Given the description of an element on the screen output the (x, y) to click on. 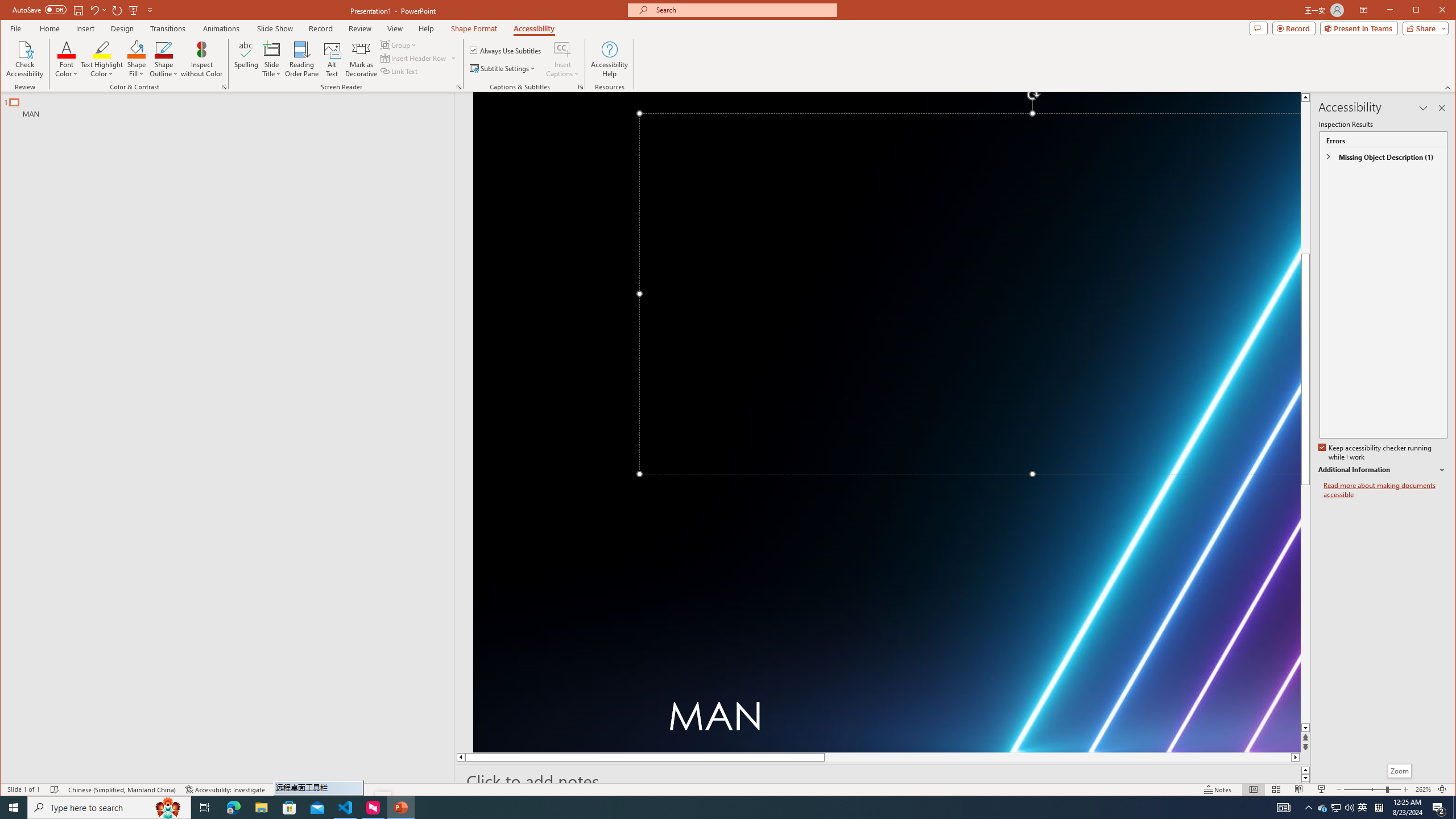
Color & Contrast (223, 86)
Collapse the Ribbon (1448, 87)
Zoom Out (1364, 789)
PowerPoint - 1 running window (400, 807)
Font Color Red (66, 48)
Spell Check No Errors (55, 789)
Notification Chevron (1308, 807)
Zoom 262% (1422, 789)
Group (399, 44)
Visual Studio Code - 1 running window (345, 807)
Subtitle Settings (502, 68)
Type here to search (108, 807)
